Given the description of an element on the screen output the (x, y) to click on. 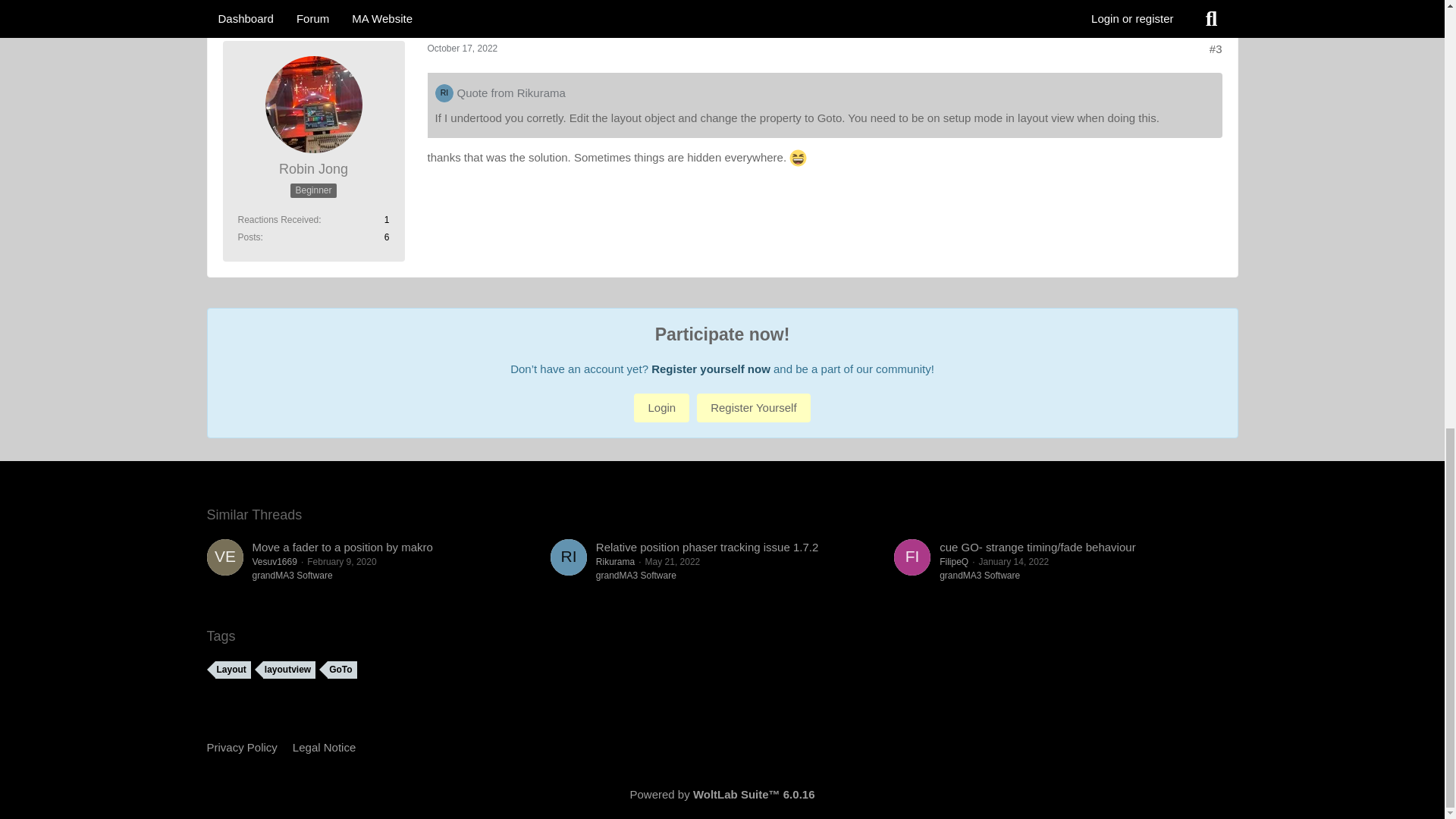
Quote from Rikurama (510, 92)
biggrin (797, 158)
Posts (249, 236)
October 17, 2022October 17, 2022 at 7:36 PM (462, 48)
Reactions Received (278, 219)
Robin Jong (313, 169)
